Given the description of an element on the screen output the (x, y) to click on. 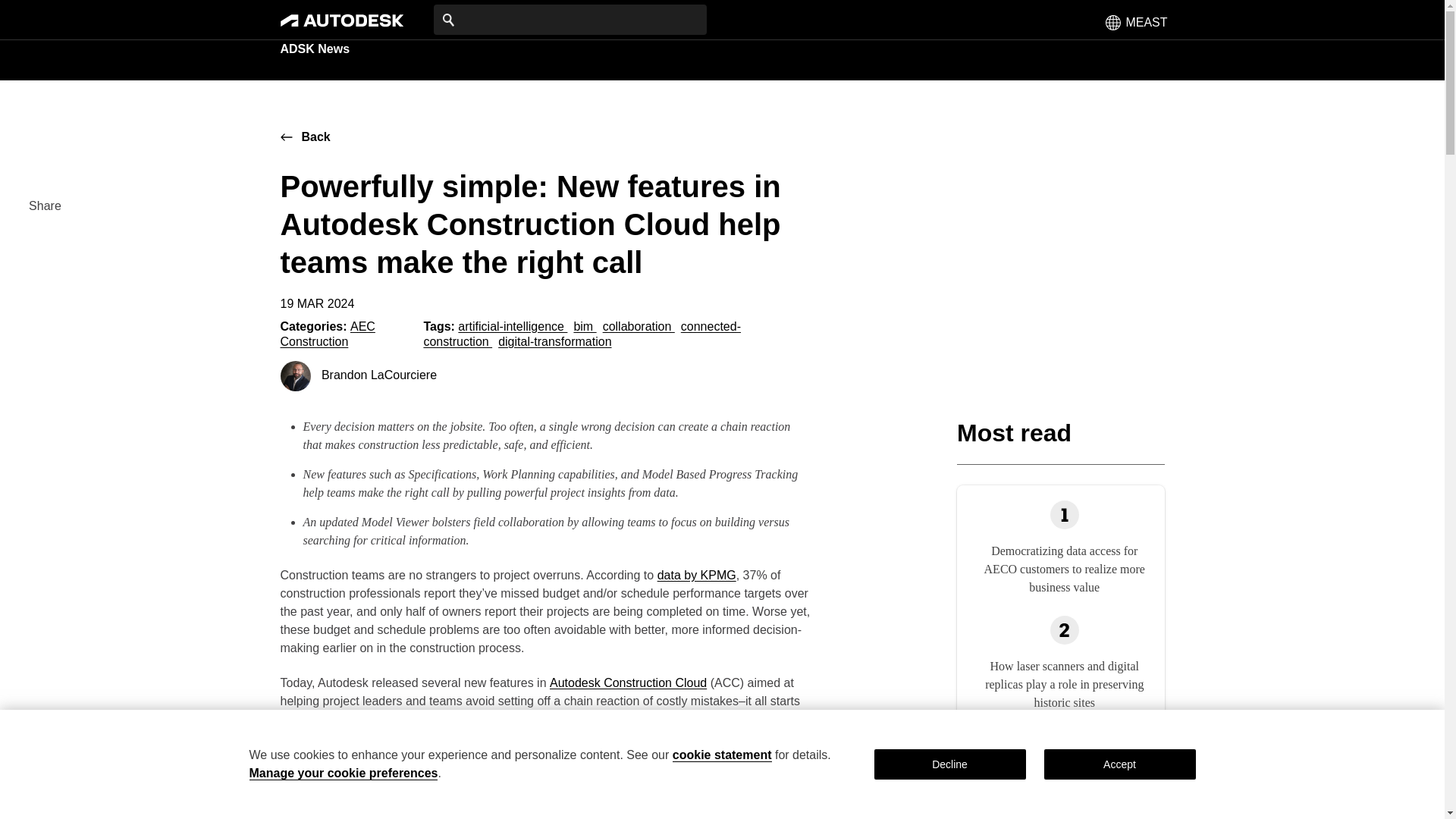
MEAST (1136, 21)
